Given the description of an element on the screen output the (x, y) to click on. 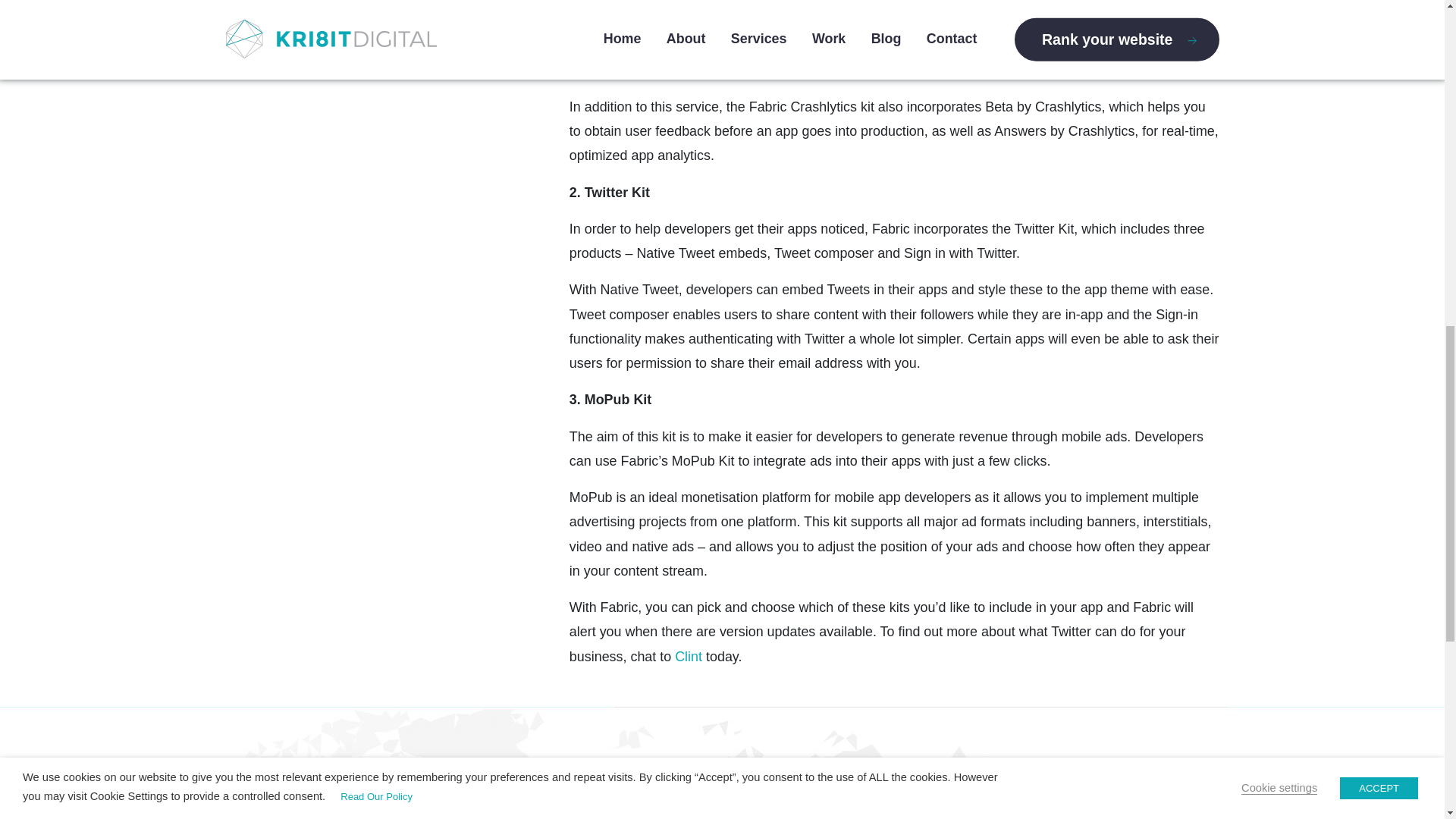
Clint (688, 656)
